Given the description of an element on the screen output the (x, y) to click on. 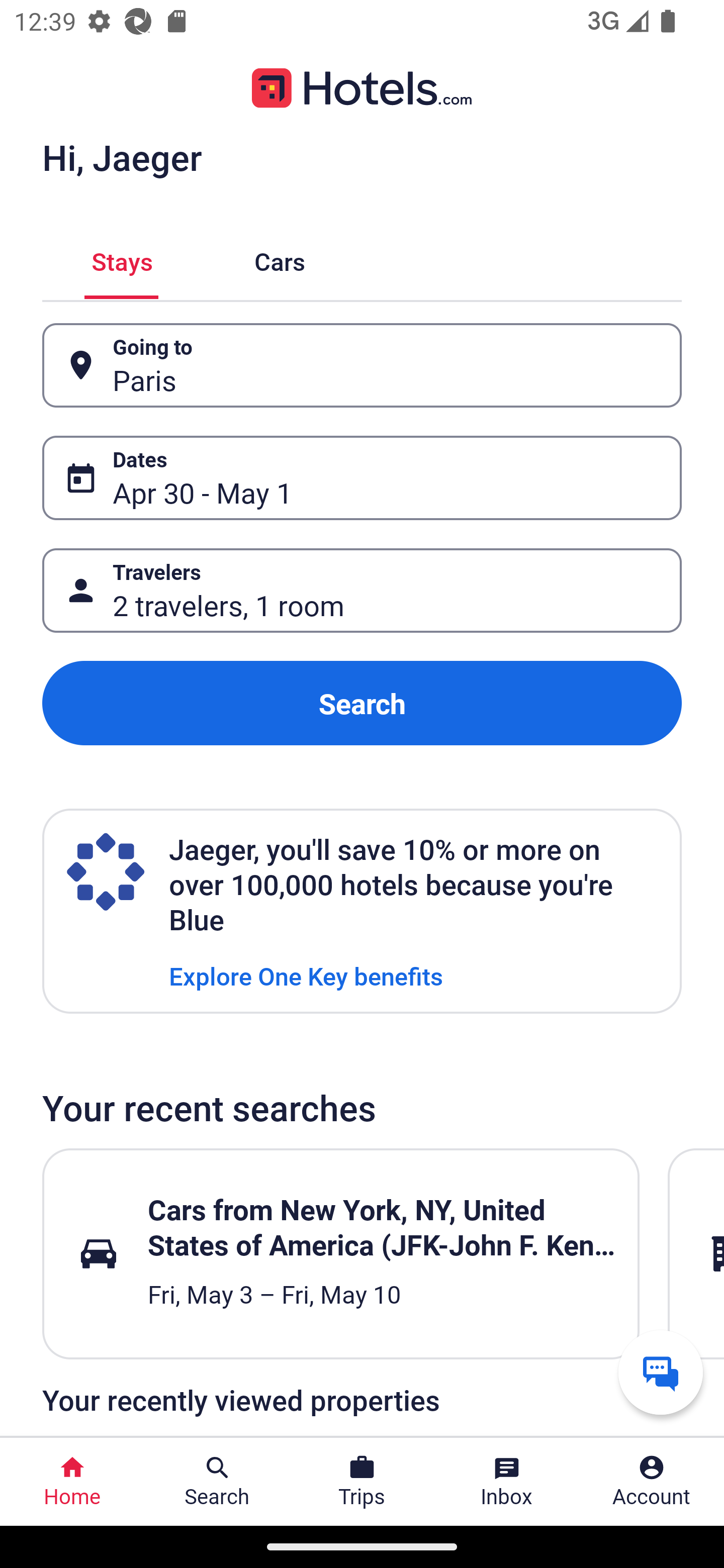
Hi, Jaeger (121, 156)
Cars (279, 259)
Going to Button Paris (361, 365)
Dates Button Apr 30 - May 1 (361, 477)
Travelers Button 2 travelers, 1 room (361, 590)
Search (361, 702)
Get help from a virtual agent (660, 1371)
Search Search Button (216, 1481)
Trips Trips Button (361, 1481)
Inbox Inbox Button (506, 1481)
Account Profile. Button (651, 1481)
